Given the description of an element on the screen output the (x, y) to click on. 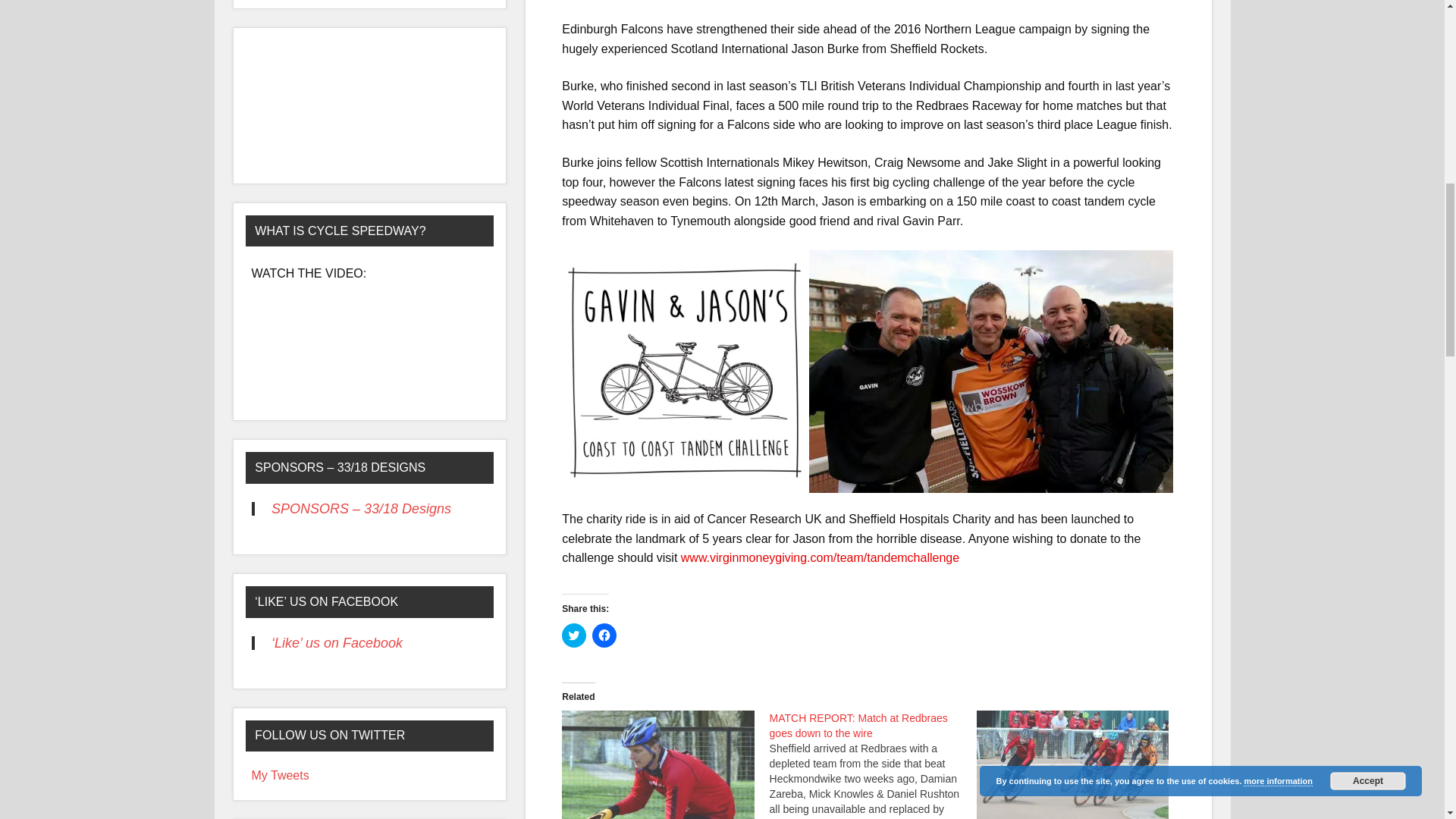
MATCH REPORT: Match at Redbraes goes down to the wire (858, 725)
MATCH REPORT: Match at Redbraes goes down to the wire (873, 764)
Click to share on Facebook (603, 635)
Click to share on Twitter (574, 635)
tandem challenge (684, 371)
CLUB NEWS: Falcons there for Jason (658, 764)
MATCH REPORT: Edinburgh win away again at Sheffield (1072, 764)
